Given the description of an element on the screen output the (x, y) to click on. 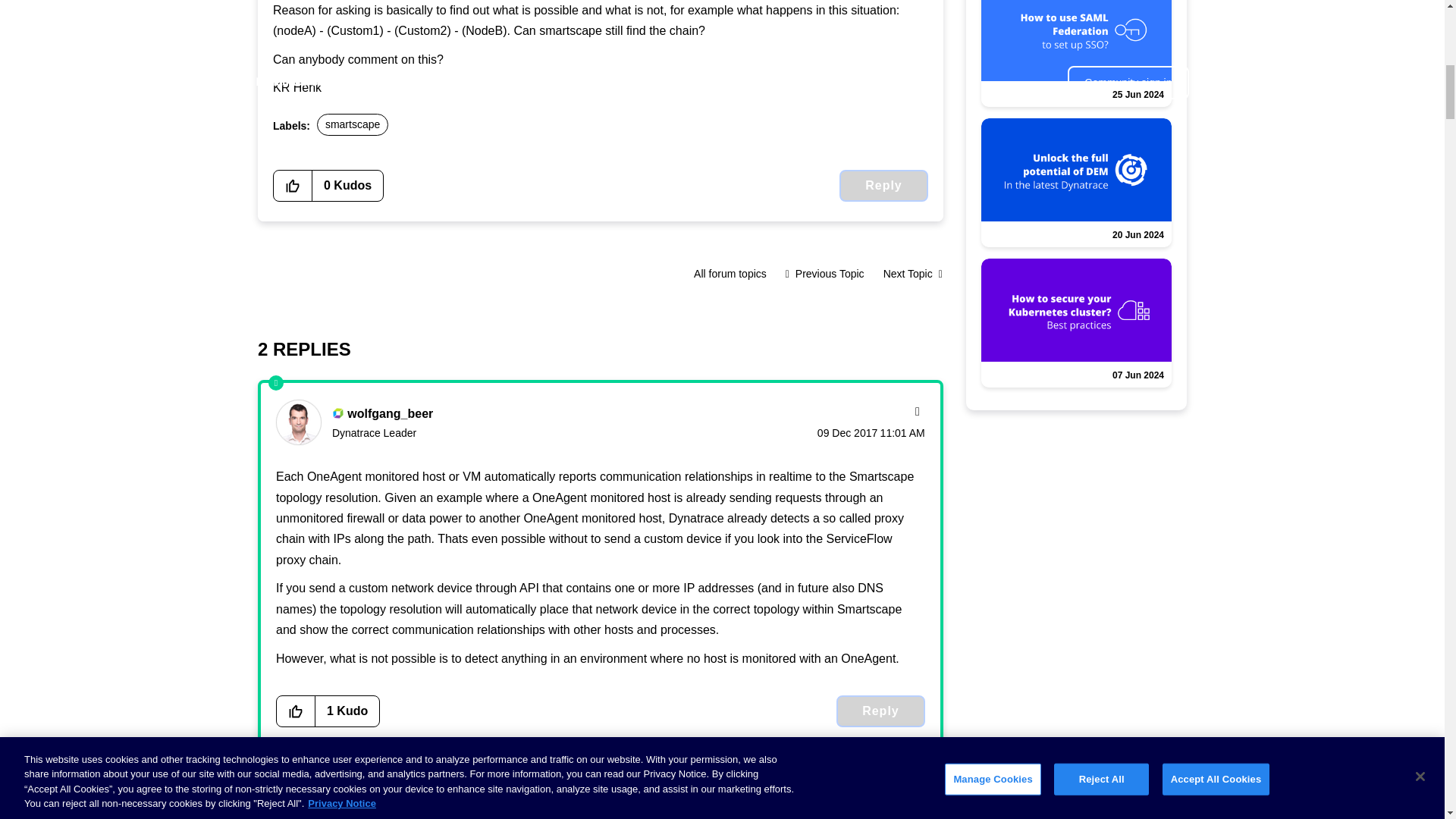
The total number of kudos this post has received. (347, 185)
Click here to give kudos to this post. (293, 185)
How to ignore 503 status code for a page (908, 273)
Dynatrace Leader (337, 413)
Manually update an agent via command line on linux (825, 273)
